Given the description of an element on the screen output the (x, y) to click on. 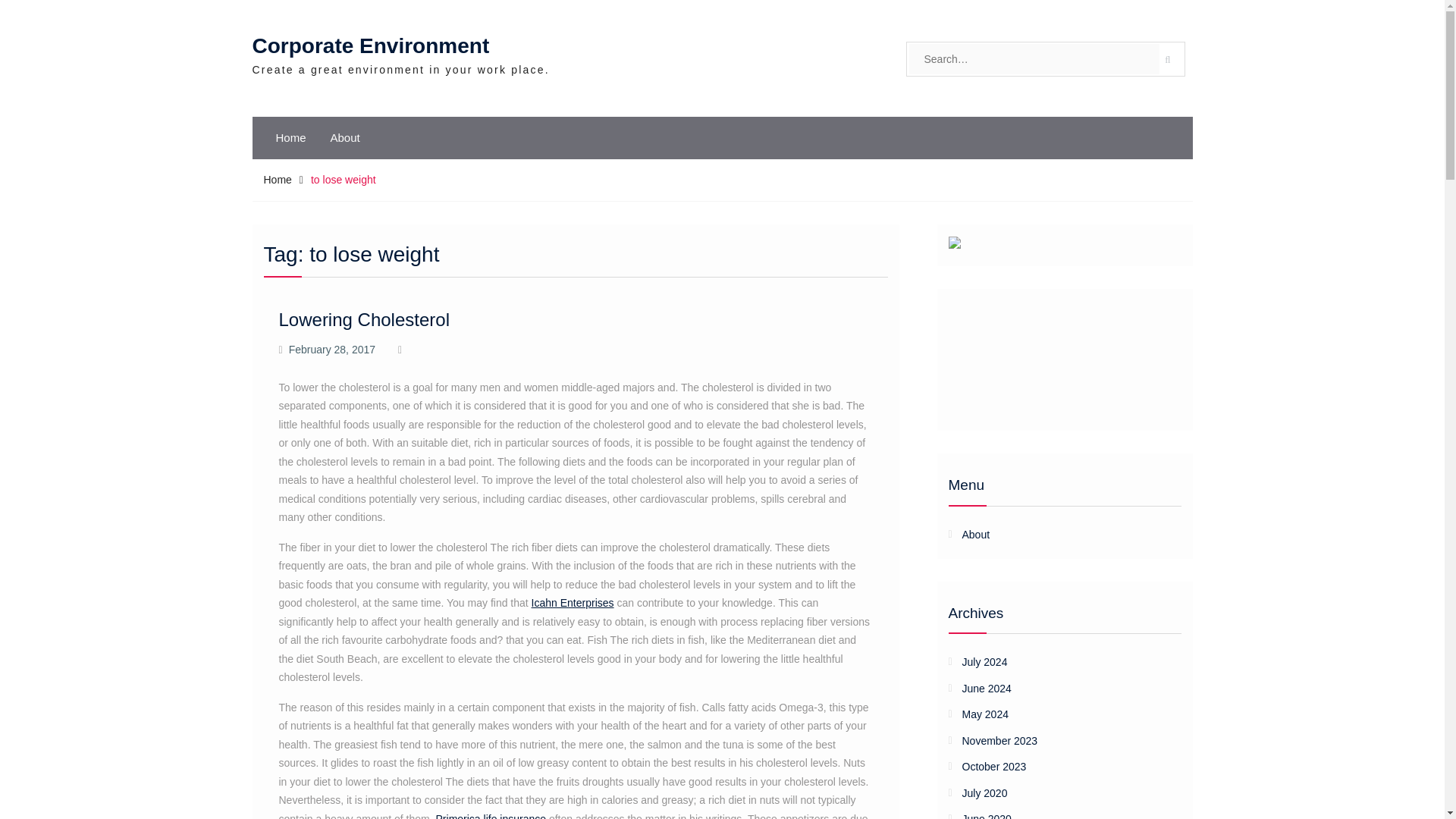
Home (290, 137)
July 2024 (1054, 661)
May 2024 (1054, 714)
June 2024 (1054, 688)
Icahn Enterprises (572, 603)
About (345, 137)
February 28, 2017 (331, 349)
Primerica life insurance (491, 816)
October 2023 (1054, 766)
About (975, 534)
